Given the description of an element on the screen output the (x, y) to click on. 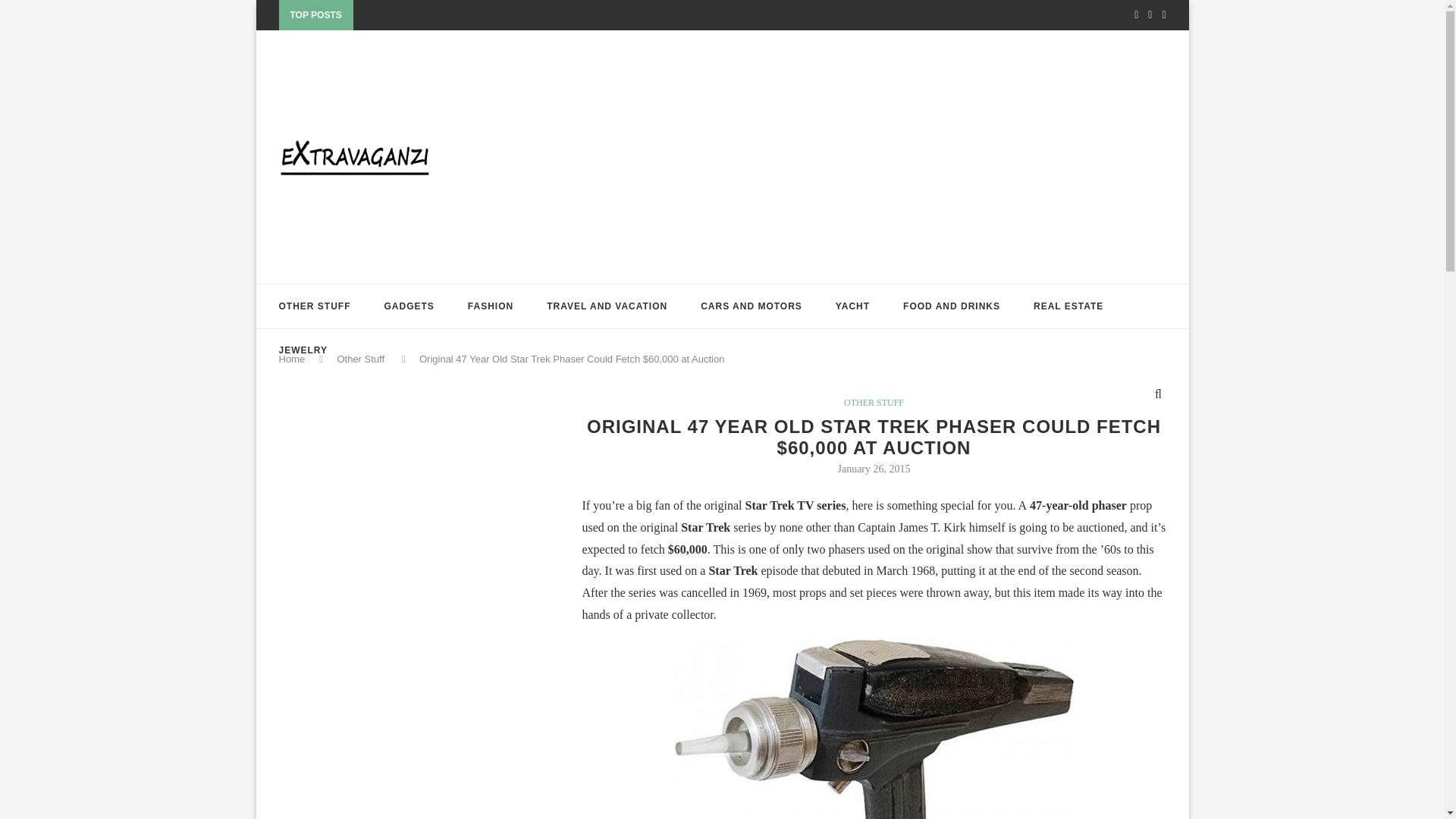
Home (292, 358)
TRAVEL AND VACATION (606, 306)
FASHION (490, 306)
GADGETS (408, 306)
JEWELRY (304, 350)
FOOD AND DRINKS (951, 306)
REAL ESTATE (1068, 306)
CARS AND MOTORS (751, 306)
View all posts in Other Stuff (874, 402)
OTHER STUFF (314, 306)
